Given the description of an element on the screen output the (x, y) to click on. 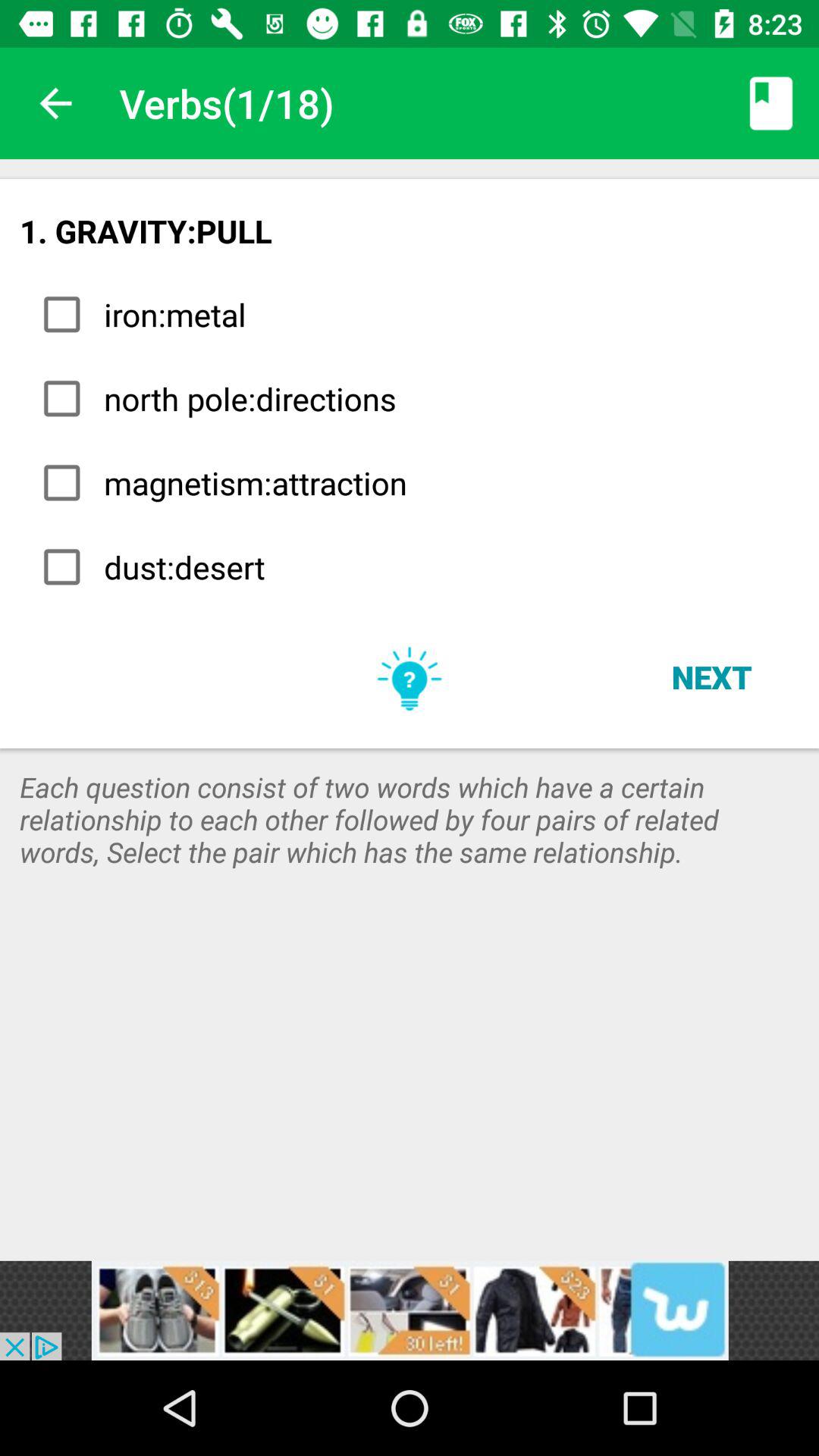
advertisement (409, 1310)
